Given the description of an element on the screen output the (x, y) to click on. 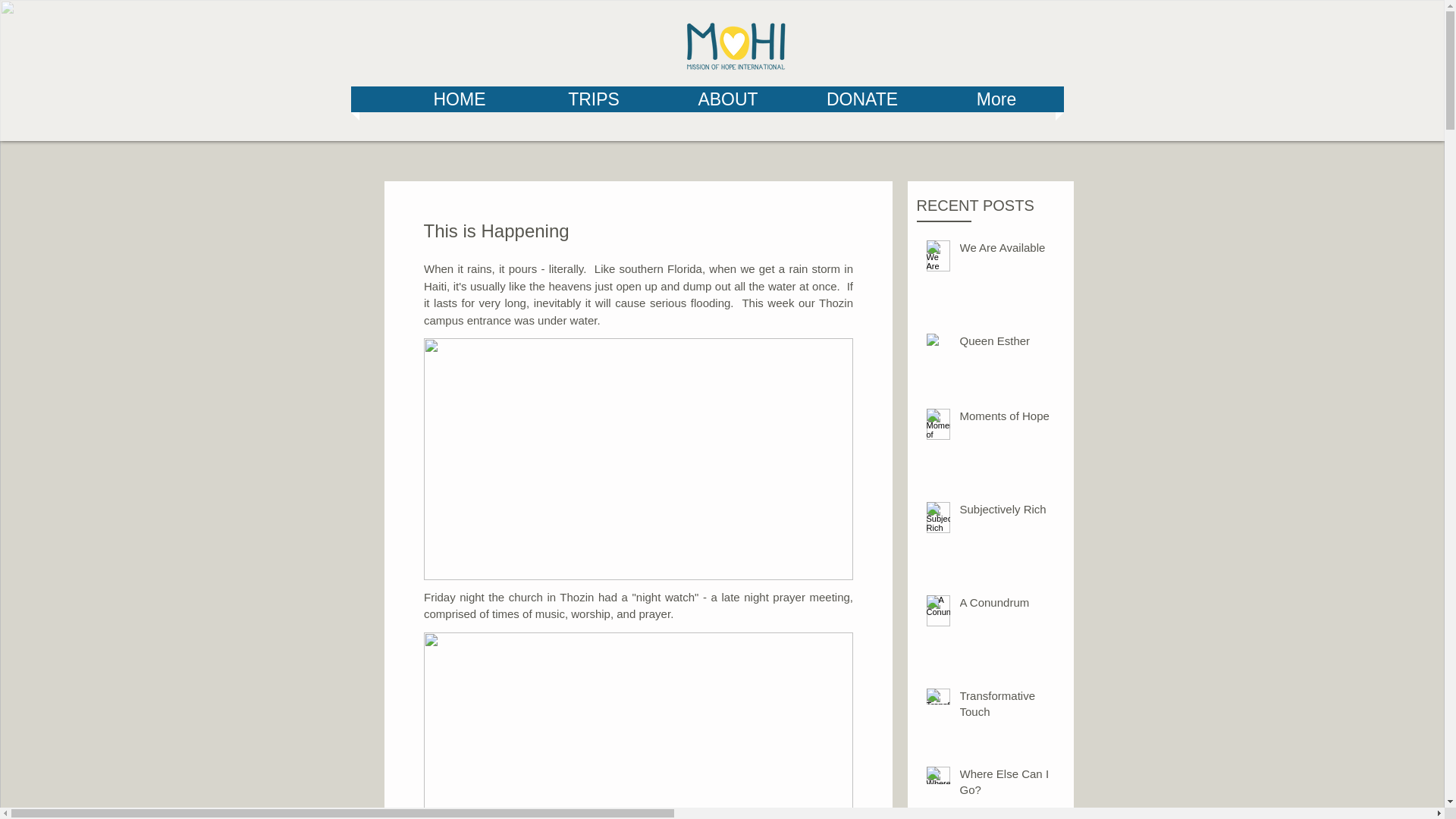
We Are Available (1005, 250)
Transformative Touch (1005, 706)
DONATE (862, 99)
Subjectively Rich (1005, 512)
Queen Esther (1005, 343)
A Conundrum (1005, 605)
ABOUT (726, 99)
HOME (459, 99)
TRIPS (594, 99)
Where Else Can I Go? (1005, 784)
Moments of Hope (1005, 418)
